Given the description of an element on the screen output the (x, y) to click on. 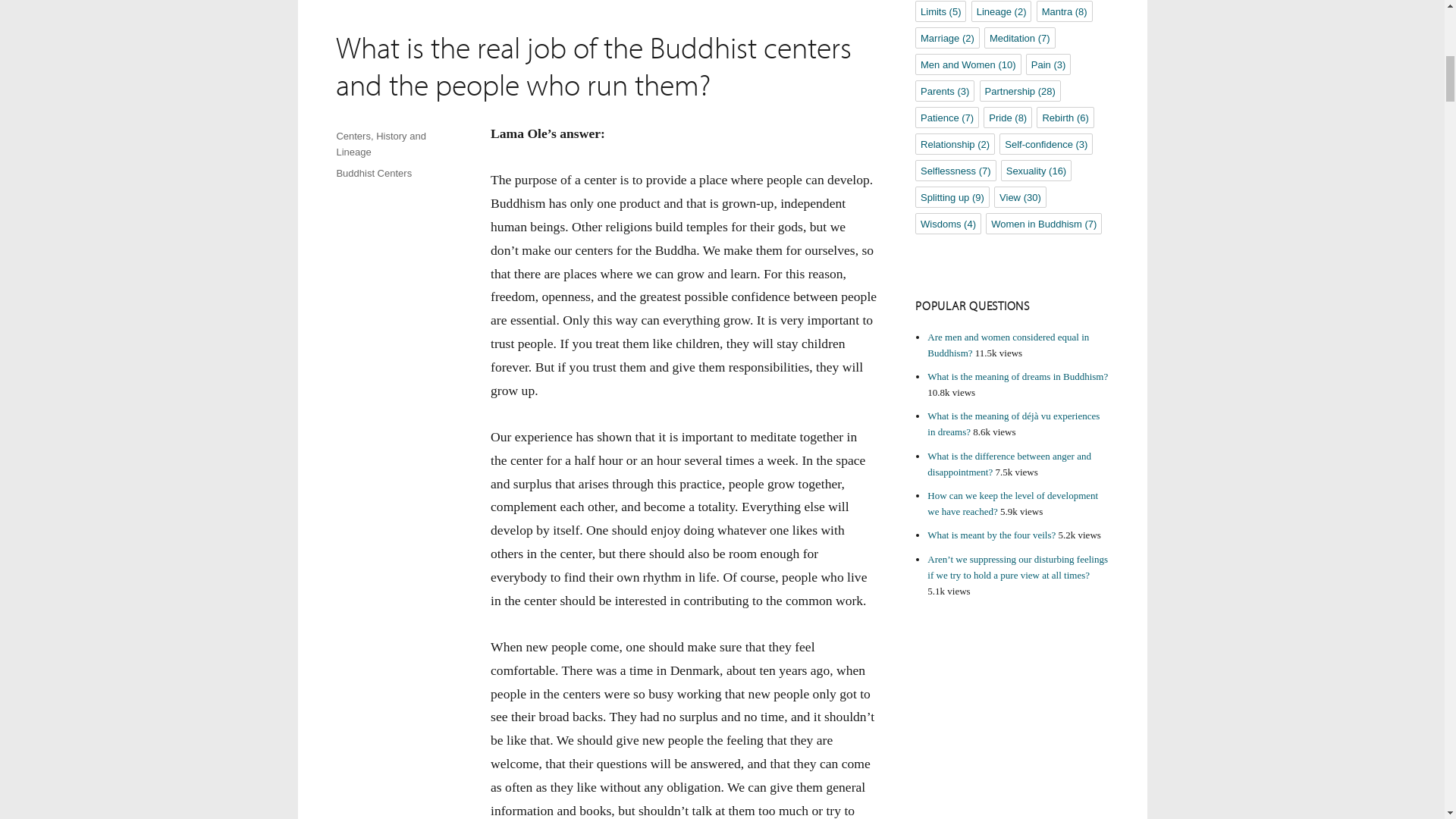
Centers, History and Lineage (381, 144)
Buddhist Centers (374, 173)
